Given the description of an element on the screen output the (x, y) to click on. 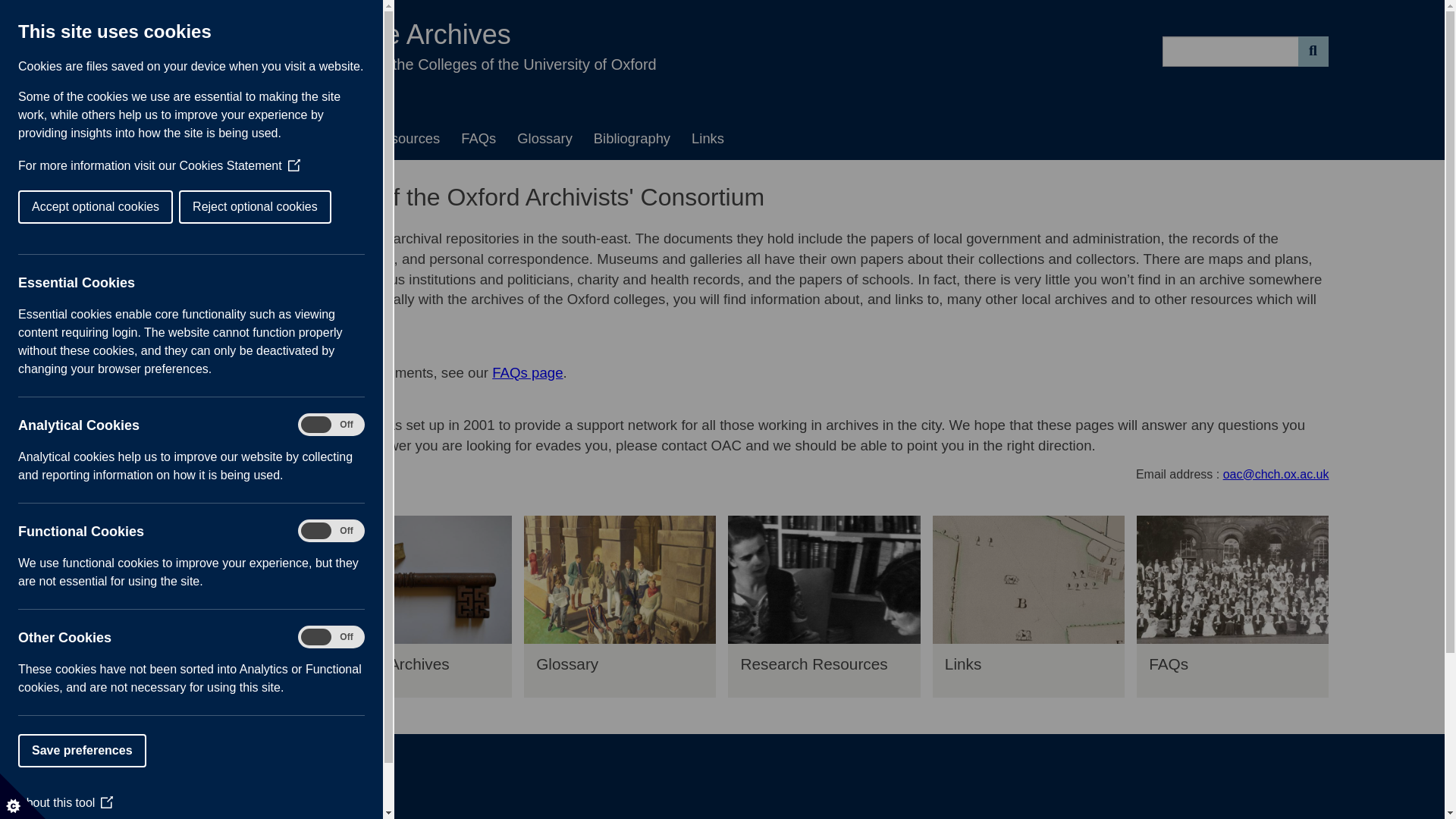
Bibliography (211, 579)
Links (1028, 579)
Enter the terms you wish to search for (1229, 51)
FAQs (477, 138)
FAQs page (527, 372)
Research Resources (824, 579)
Home (144, 138)
Research Resources (375, 138)
College Archives (416, 670)
Research Resources (824, 670)
